Given the description of an element on the screen output the (x, y) to click on. 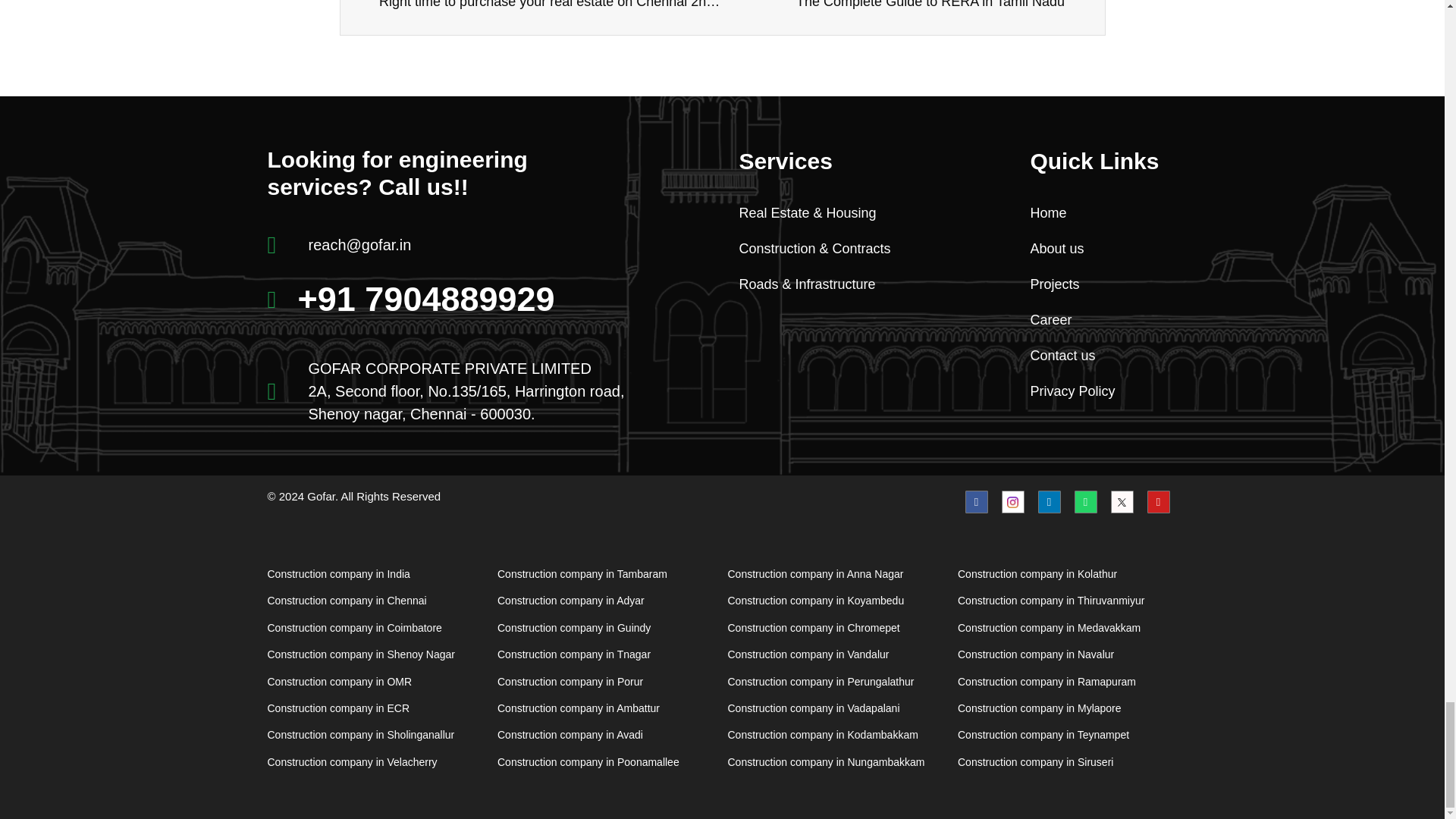
Contact us (1101, 355)
Career (1101, 320)
About us (938, 6)
Home (1101, 249)
Projects (1101, 213)
